Given the description of an element on the screen output the (x, y) to click on. 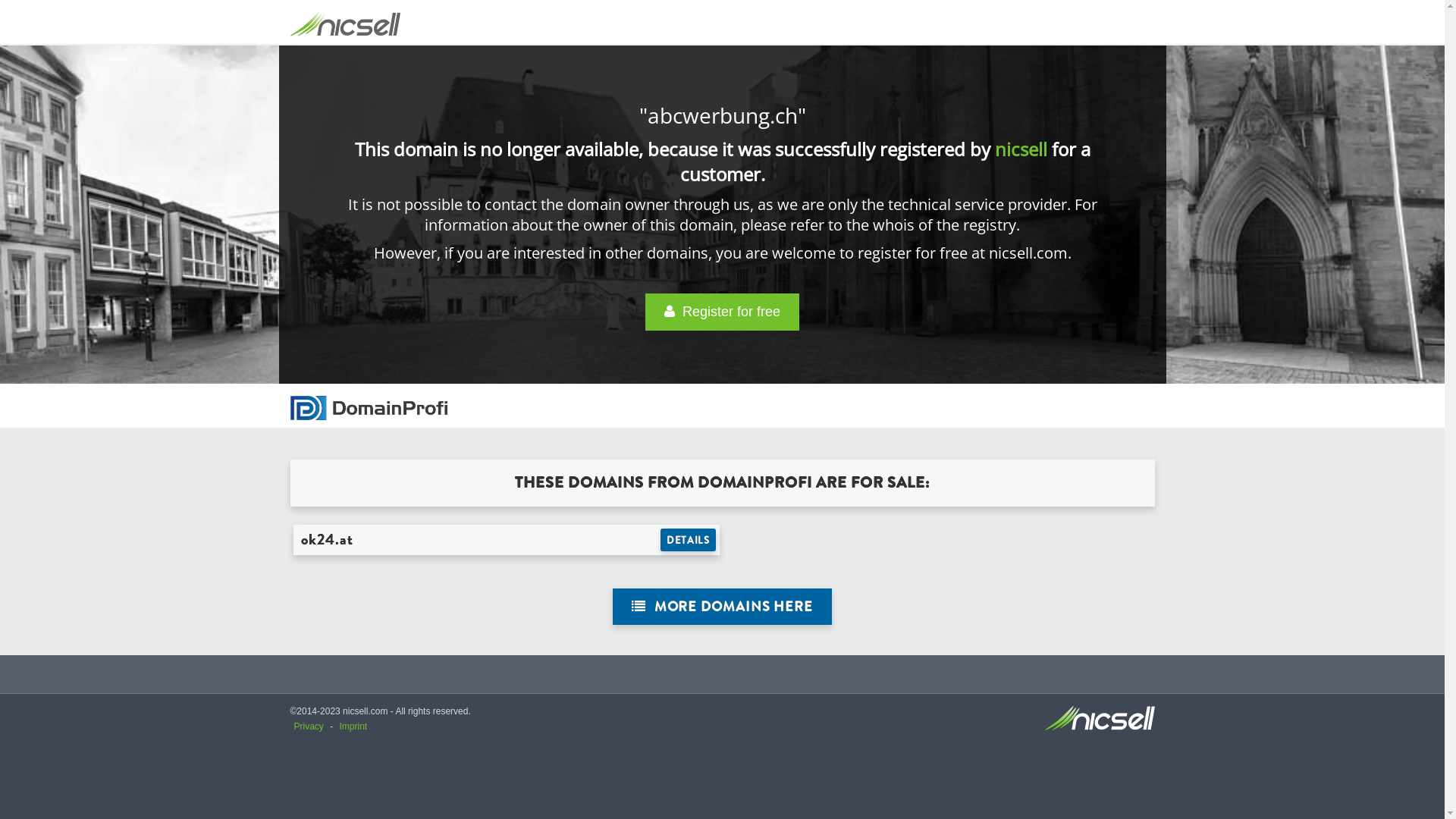
  MORE DOMAINS HERE Element type: text (721, 606)
DETAILS Element type: text (687, 539)
  Register for free Element type: text (722, 311)
Imprint Element type: text (353, 726)
nicsell Element type: text (1020, 148)
Privacy Element type: text (308, 726)
